Given the description of an element on the screen output the (x, y) to click on. 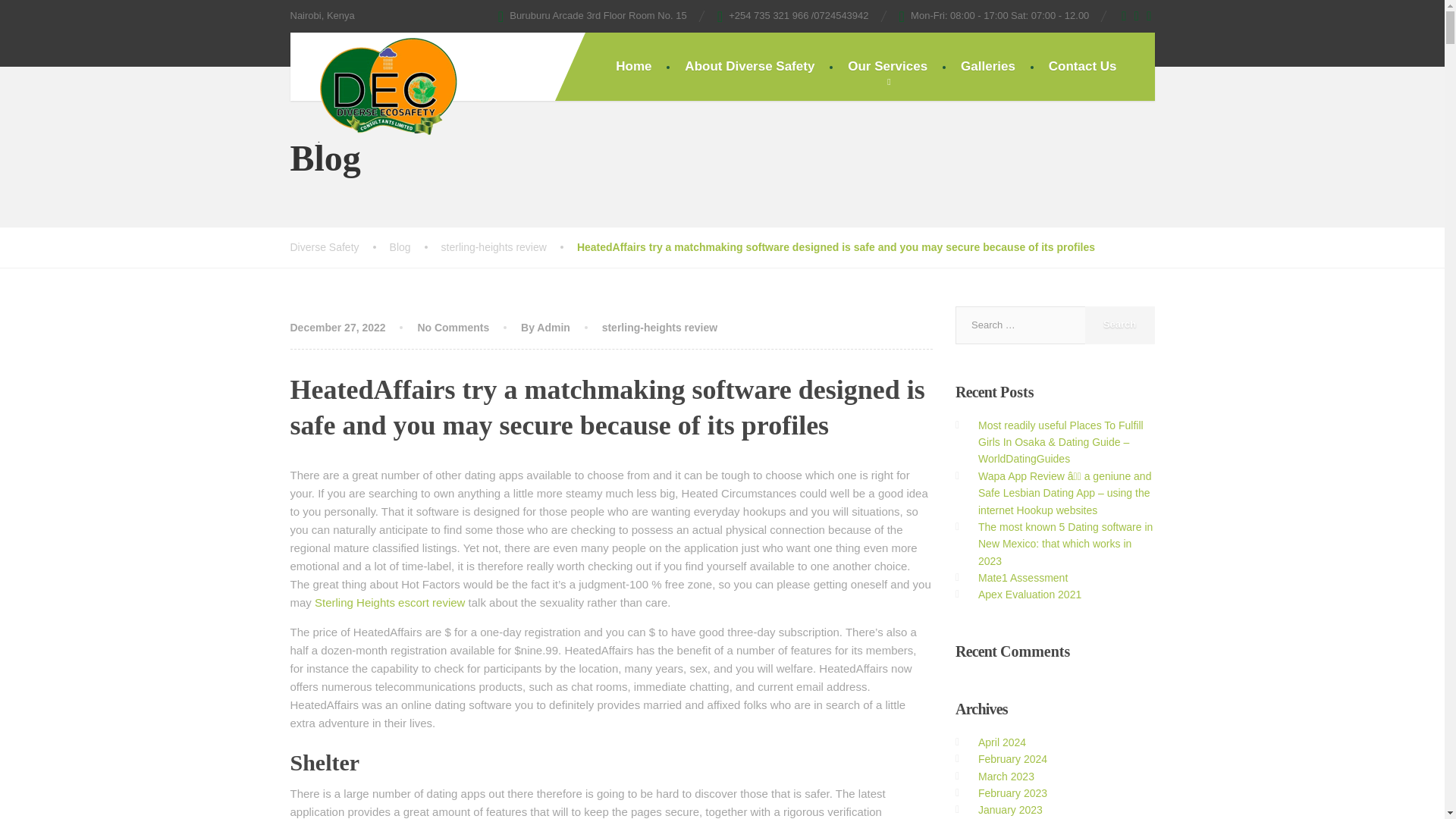
Go to Blog. (415, 246)
Search (1119, 324)
sterling-heights review (659, 327)
Galleries (987, 66)
No Comments (452, 327)
Sterling Heights escort review (389, 602)
About Diverse Safety (749, 66)
Go to the sterling-heights review Category archives. (508, 246)
Diverse Safety (338, 246)
February 2024 (1012, 758)
Blog (415, 246)
